Given the description of an element on the screen output the (x, y) to click on. 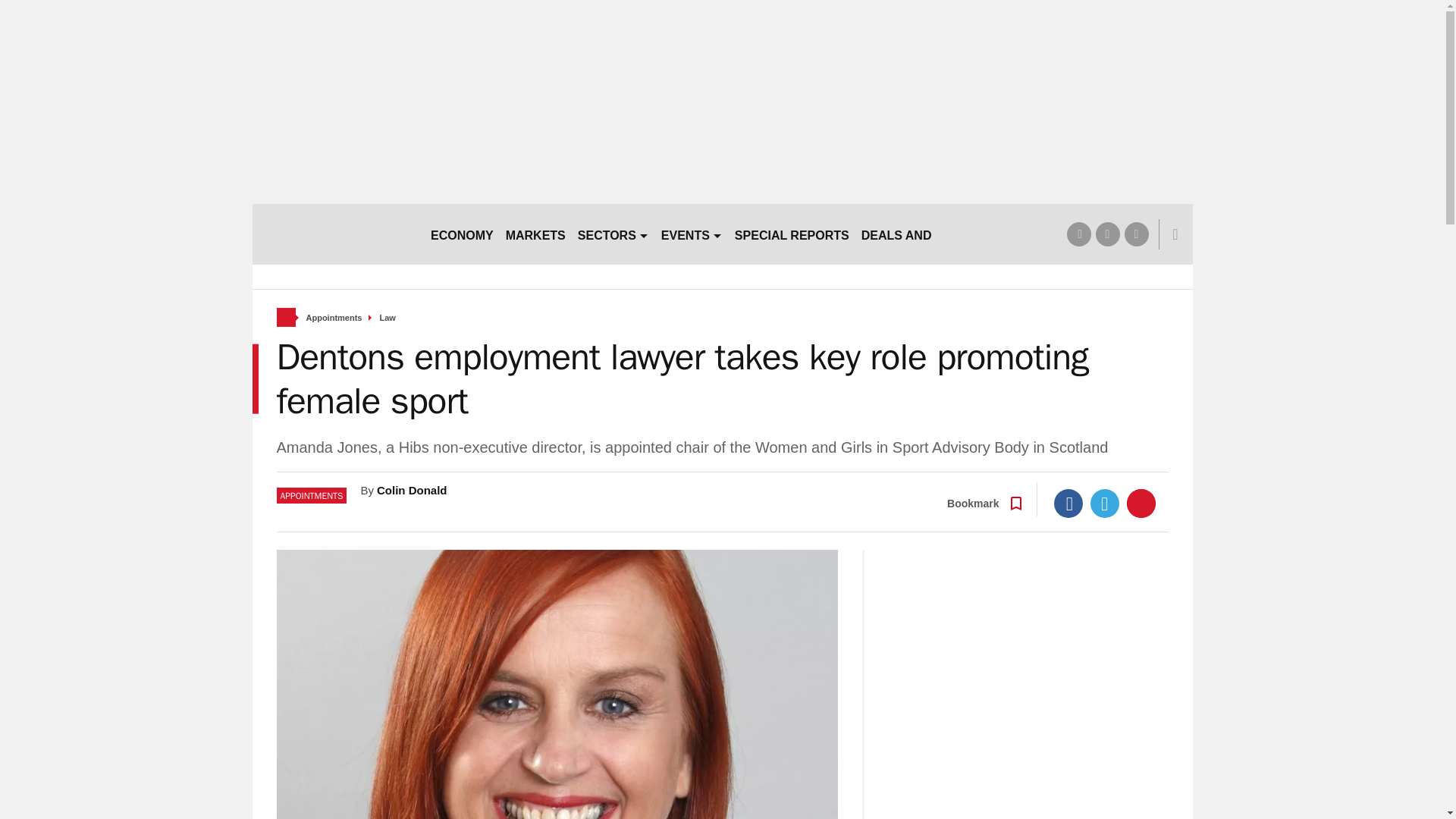
Home (285, 316)
MARKETS (535, 233)
Facebook (1068, 502)
twitter (1106, 233)
DEALS AND DEALMAKERS (941, 233)
Law (386, 317)
SECTORS (613, 233)
SPECIAL REPORTS (792, 233)
facebook (1077, 233)
EVENTS (692, 233)
linkedin (1136, 233)
ECONOMY (462, 233)
Twitter (1104, 502)
Appointments (333, 317)
businessInsider (333, 233)
